Given the description of an element on the screen output the (x, y) to click on. 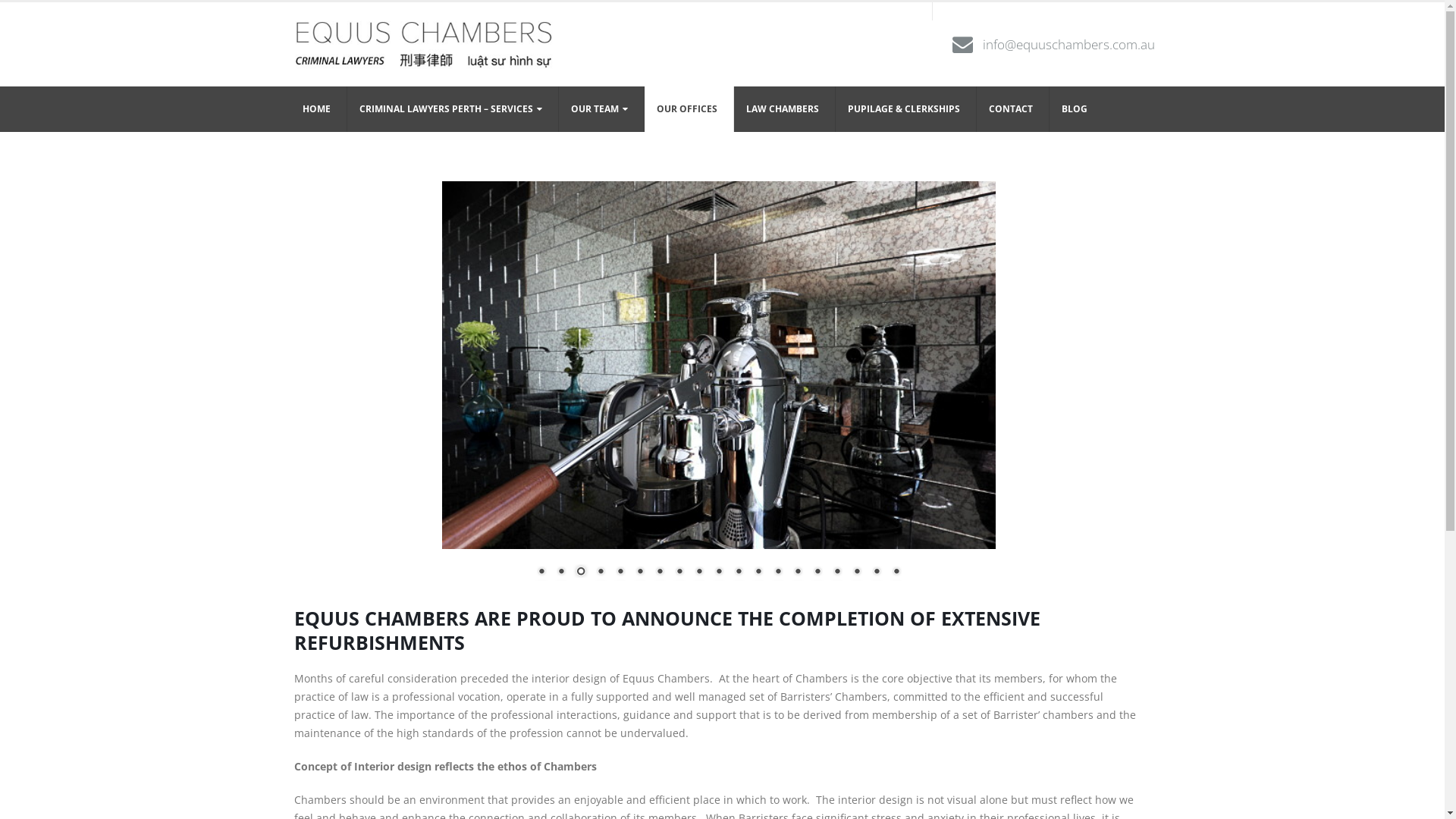
15 Element type: text (816, 572)
1 Element type: text (540, 572)
7 Element type: text (658, 572)
16 Element type: text (836, 572)
2 Element type: text (560, 572)
PUPILAGE & CLERKSHIPS Element type: text (905, 108)
8 Element type: text (678, 572)
HOME Element type: text (317, 108)
13 Element type: text (776, 572)
19 Element type: text (895, 572)
Barrister Chambers - Chamber Barristers Element type: hover (422, 43)
9 Element type: text (698, 572)
14 Element type: text (796, 572)
18 Element type: text (875, 572)
12 Element type: text (757, 572)
5 Element type: text (619, 572)
OUR TEAM Element type: text (600, 108)
11 Element type: text (737, 572)
LAW CHAMBERS Element type: text (784, 108)
info@equuschambers.com.au Element type: text (1068, 44)
BLOG Element type: text (1076, 108)
4 Element type: text (599, 572)
6 Element type: text (638, 572)
10 Element type: text (717, 572)
17 Element type: text (855, 572)
3 Element type: text (579, 572)
OUR OFFICES Element type: text (689, 108)
CONTACT Element type: text (1012, 108)
